Given the description of an element on the screen output the (x, y) to click on. 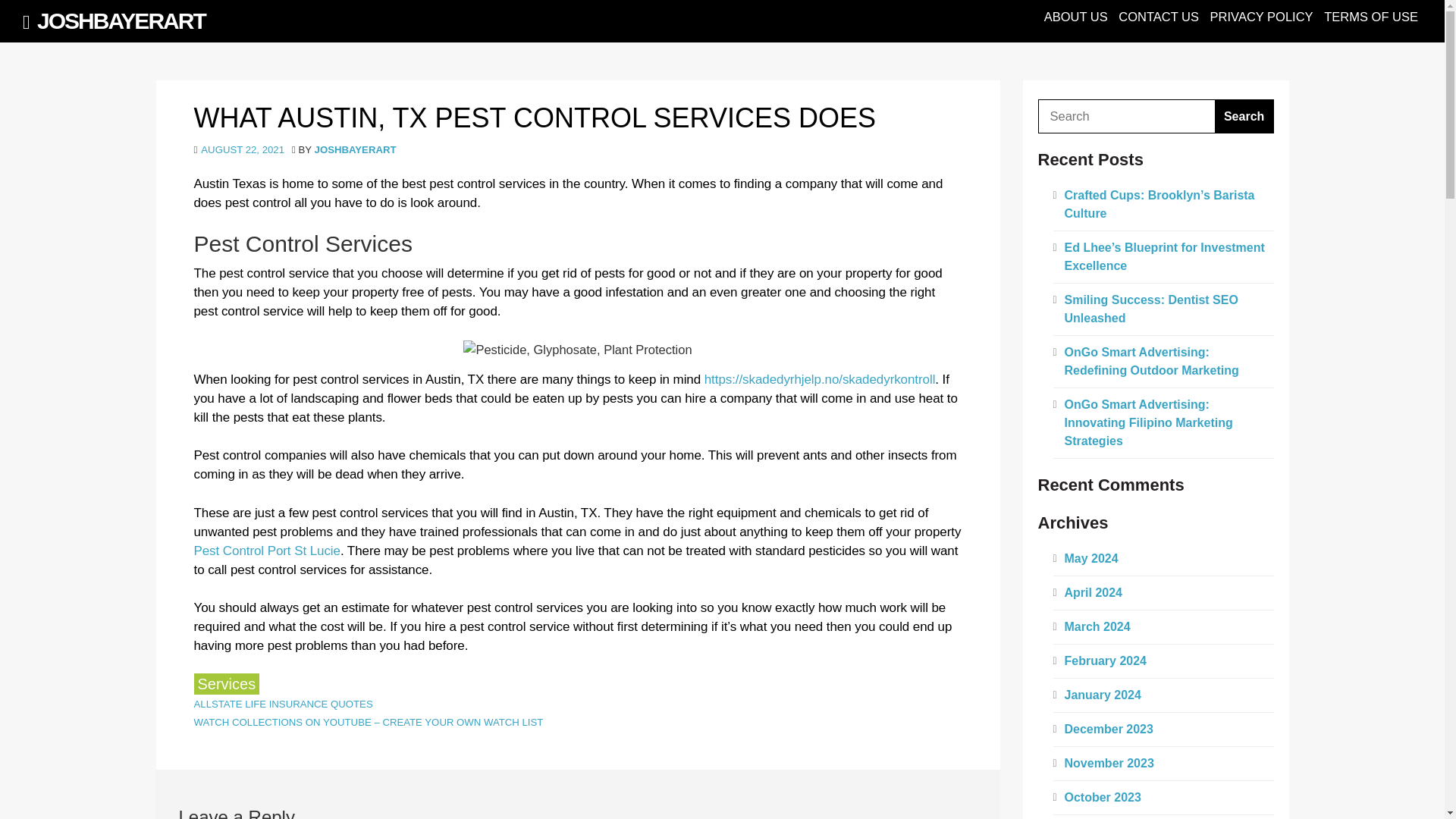
Search (1244, 116)
Smiling Success: Dentist SEO Unleashed (1151, 308)
May 2024 (1091, 558)
November 2023 (1109, 762)
February 2024 (1105, 660)
PRIVACY POLICY (1261, 16)
March 2024 (1097, 626)
Search (1244, 116)
ABOUT US (1075, 16)
Pest Control Port St Lucie (266, 550)
TERMS OF USE (1370, 16)
JOSHBAYERART (121, 20)
Services (226, 683)
OnGo Smart Advertising: Redefining Outdoor Marketing (1151, 360)
